Given the description of an element on the screen output the (x, y) to click on. 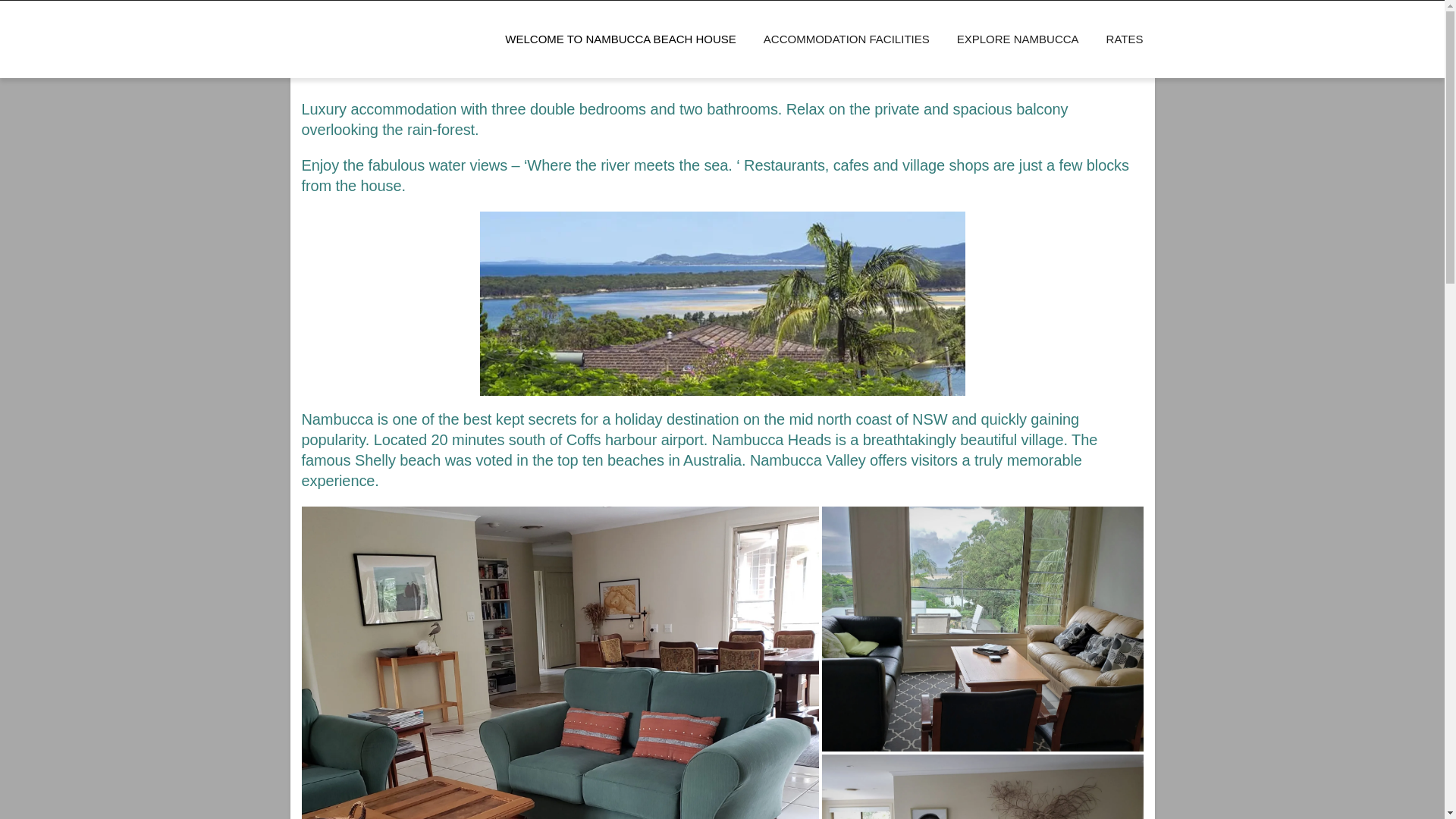
RATES Element type: text (1117, 39)
EXPLORE NAMBUCCA Element type: text (1017, 39)
ACCOMMODATION FACILITIES Element type: text (846, 39)
WELCOME TO NAMBUCCA BEACH HOUSE Element type: text (620, 39)
NAMBUCCA BEACH HOUSE Element type: text (459, 22)
